Given the description of an element on the screen output the (x, y) to click on. 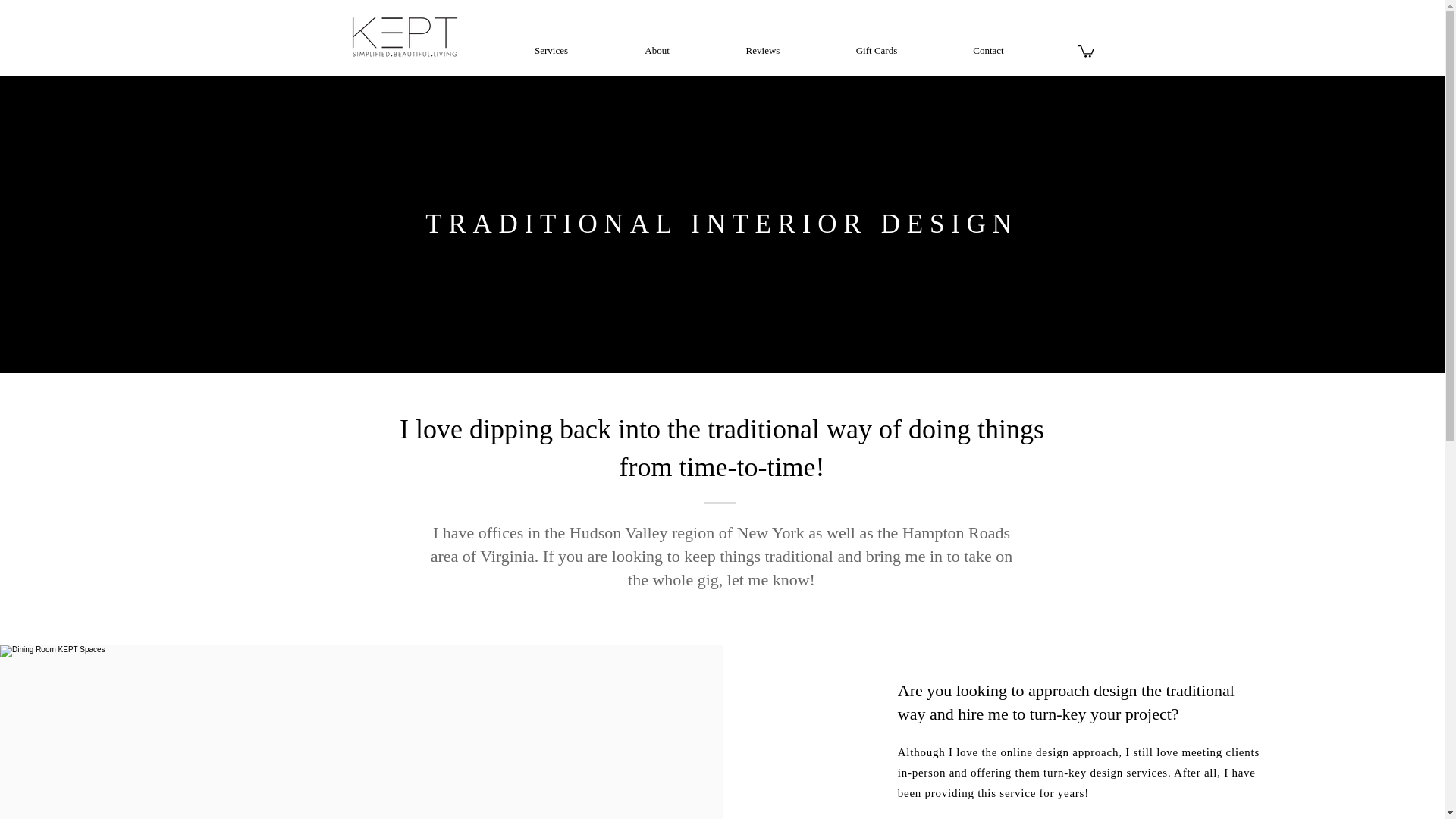
Contact (989, 50)
Reviews (762, 50)
About (657, 50)
KEPT-LOGO-TEST-TEST.png (403, 36)
Gift Cards (875, 50)
